Given the description of an element on the screen output the (x, y) to click on. 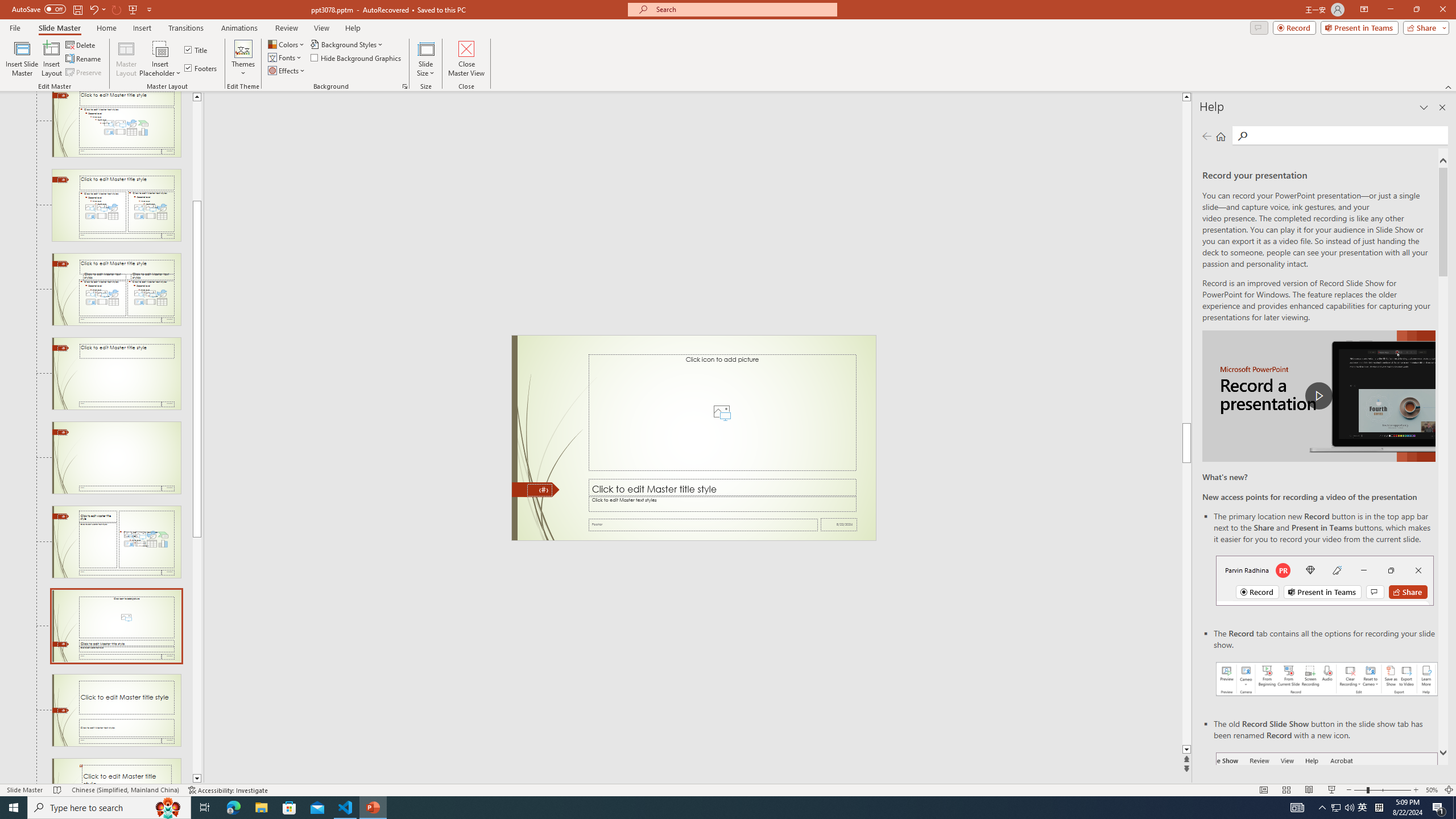
Content (160, 48)
Master Layout... (126, 58)
Record your presentations screenshot one (1326, 678)
Slide Comparison Layout: used by no slides (116, 289)
